Given the description of an element on the screen output the (x, y) to click on. 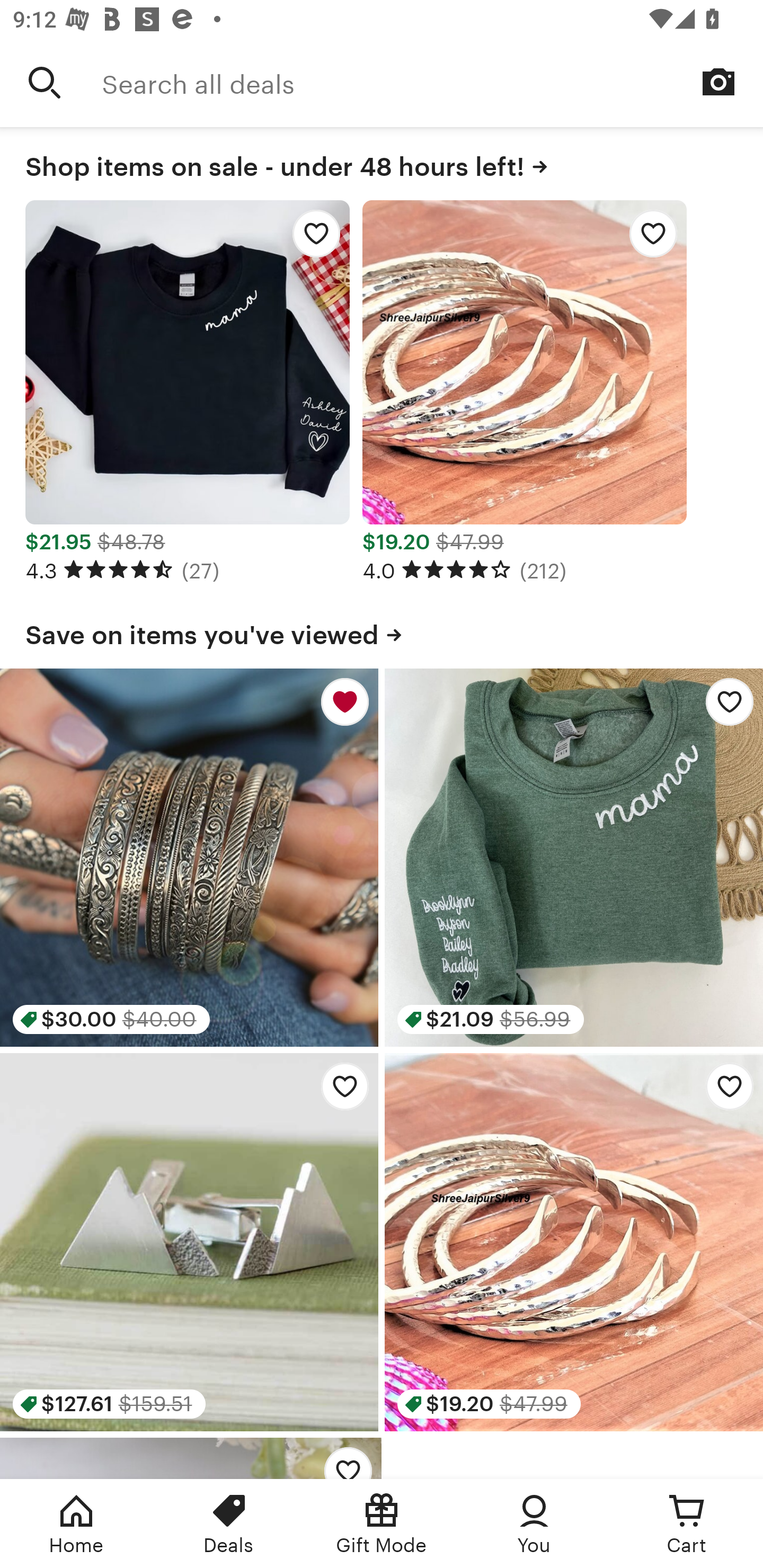
Search for anything on Etsy (44, 82)
Search by image (718, 81)
Search all deals (432, 82)
Shop items on sale - under 48 hours left! (381, 163)
Save on items you've viewed (381, 631)
Home (76, 1523)
Gift Mode (381, 1523)
You (533, 1523)
Cart (686, 1523)
